Given the description of an element on the screen output the (x, y) to click on. 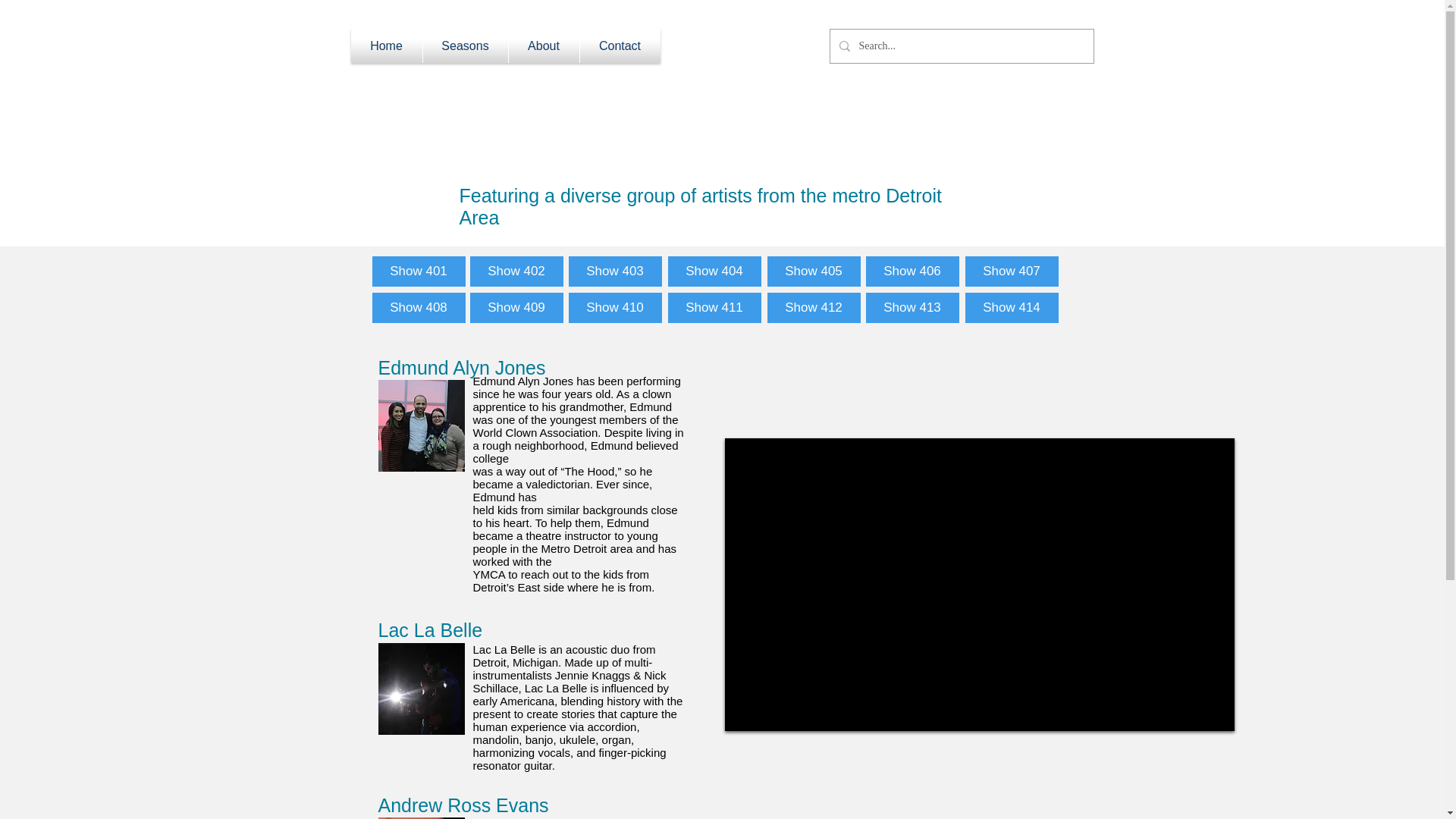
Show 411 (713, 307)
Show 414 (1010, 307)
Show 410 (615, 307)
Show 409 (516, 307)
Show 408 (417, 307)
andrew.JPG (420, 818)
Show 403 (615, 271)
Show 402 (516, 271)
Show 406 (912, 271)
Show 407 (1010, 271)
About (543, 45)
edmund.JPG (420, 425)
loc.JPG (420, 688)
Home (386, 45)
